Given the description of an element on the screen output the (x, y) to click on. 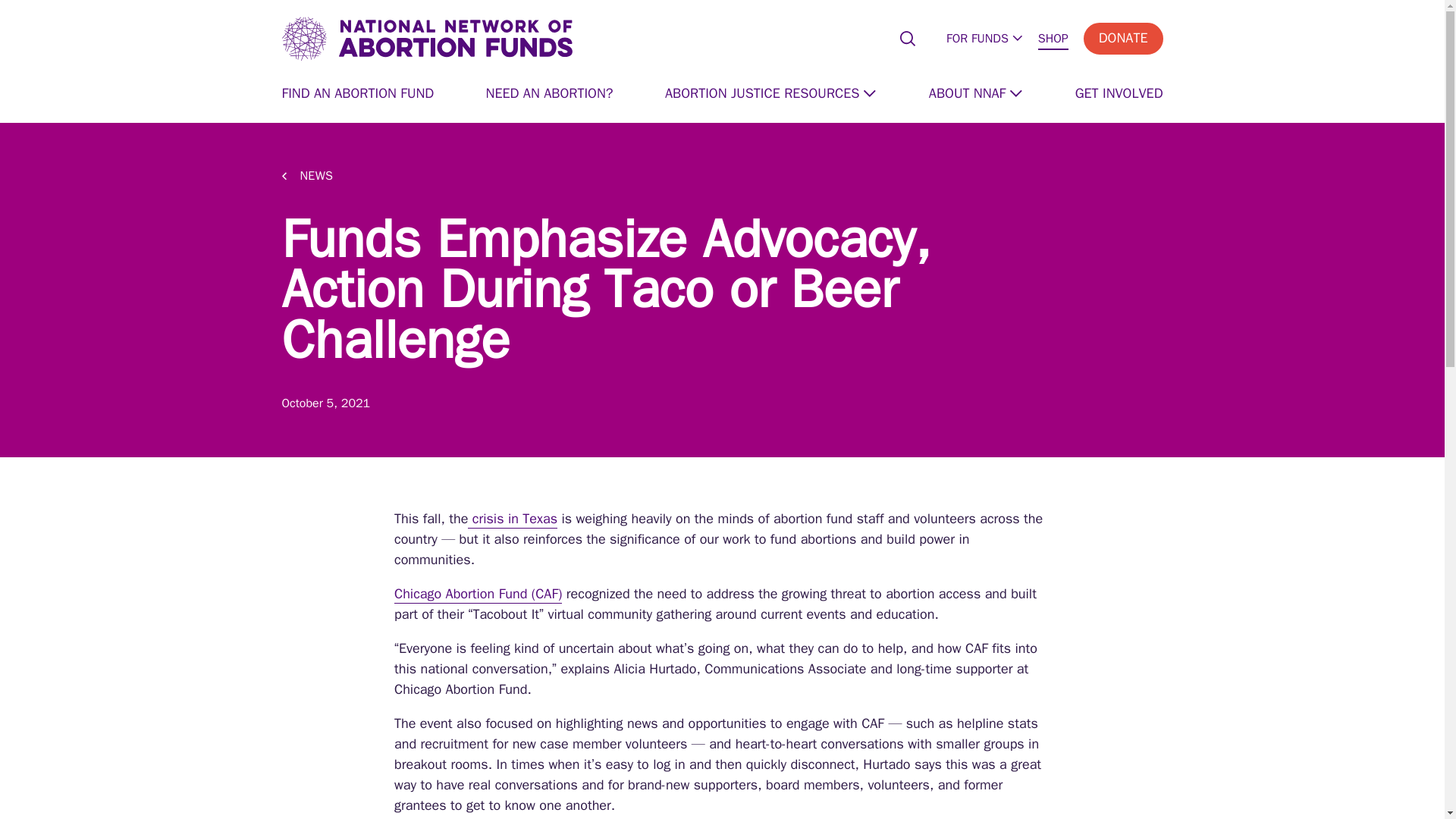
ABOUT NNAF (975, 95)
DONATE (1123, 38)
National Network of Abortion Funds (427, 38)
GET INVOLVED (1119, 95)
NEED AN ABORTION? (549, 95)
FIND AN ABORTION FUND (357, 95)
SHOP (1053, 40)
ABORTION JUSTICE RESOURCES (770, 95)
FOR FUNDS (984, 40)
